Given the description of an element on the screen output the (x, y) to click on. 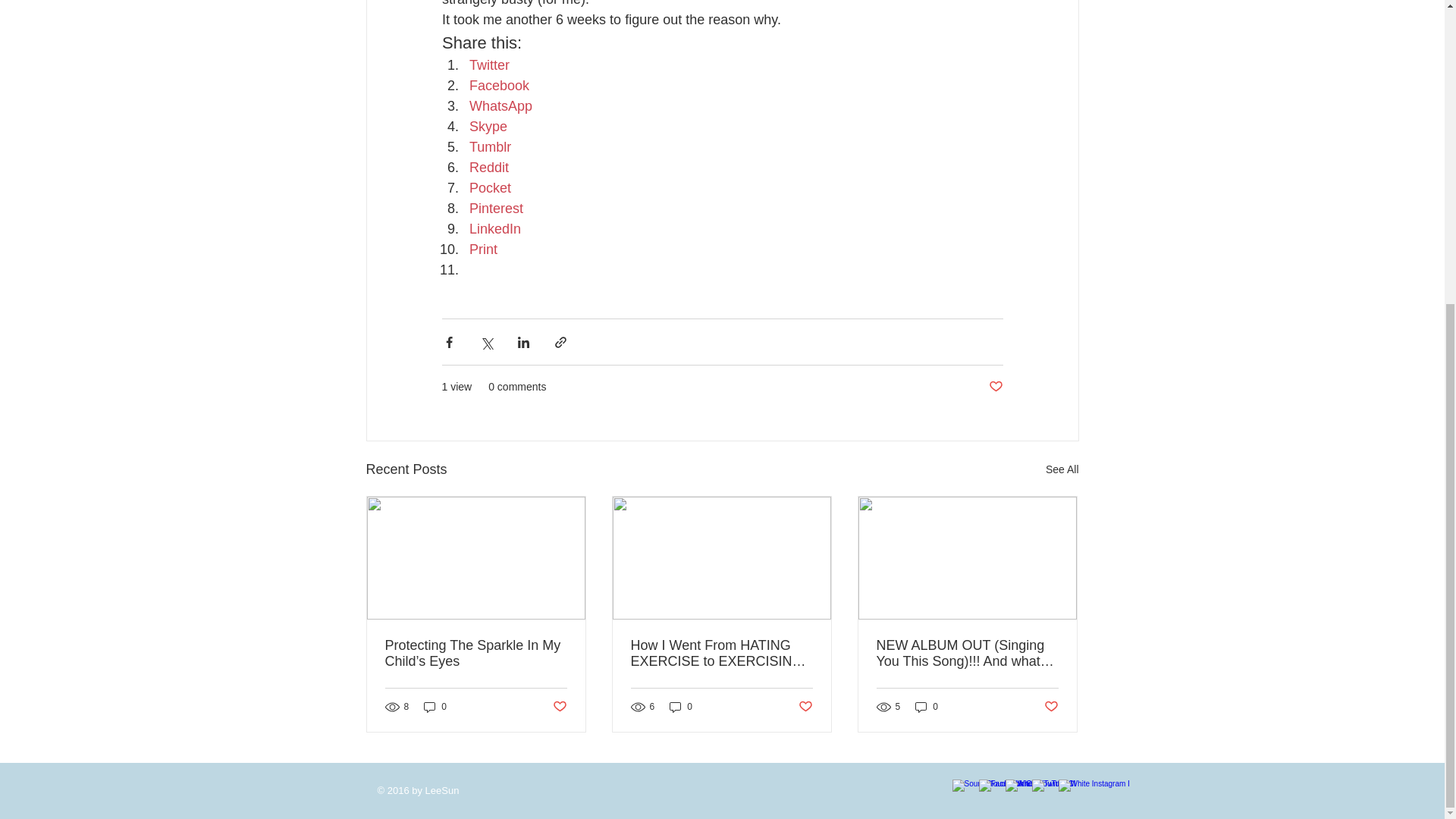
0 (435, 706)
Skype (487, 126)
WhatsApp (499, 105)
Pinterest (495, 208)
How I Went From HATING EXERCISE to EXERCISING DAILY (721, 653)
Pocket (489, 187)
LinkedIn (493, 228)
0 (926, 706)
See All (1061, 469)
Facebook (498, 85)
